Given the description of an element on the screen output the (x, y) to click on. 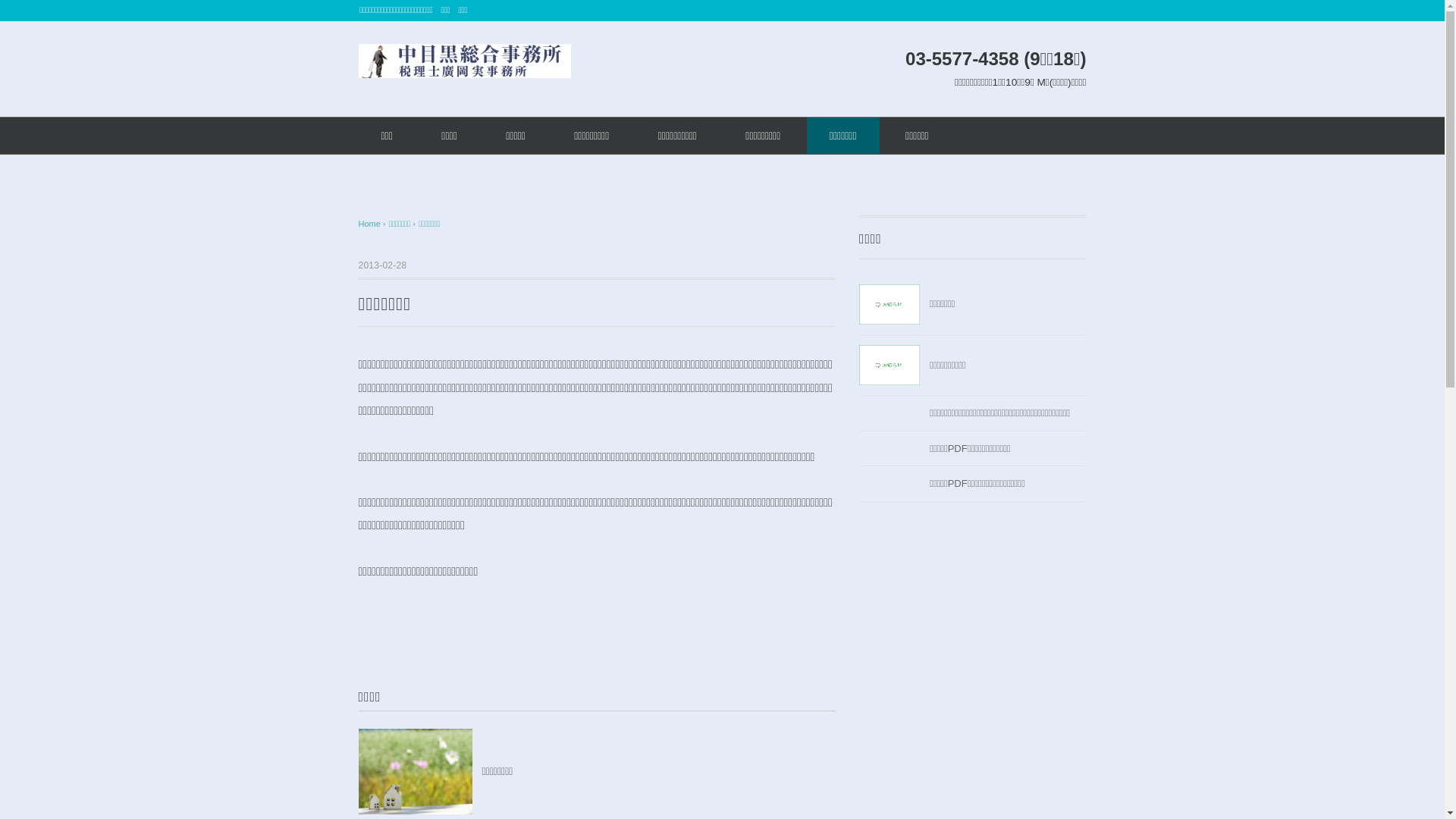
Home Element type: text (369, 223)
